Given the description of an element on the screen output the (x, y) to click on. 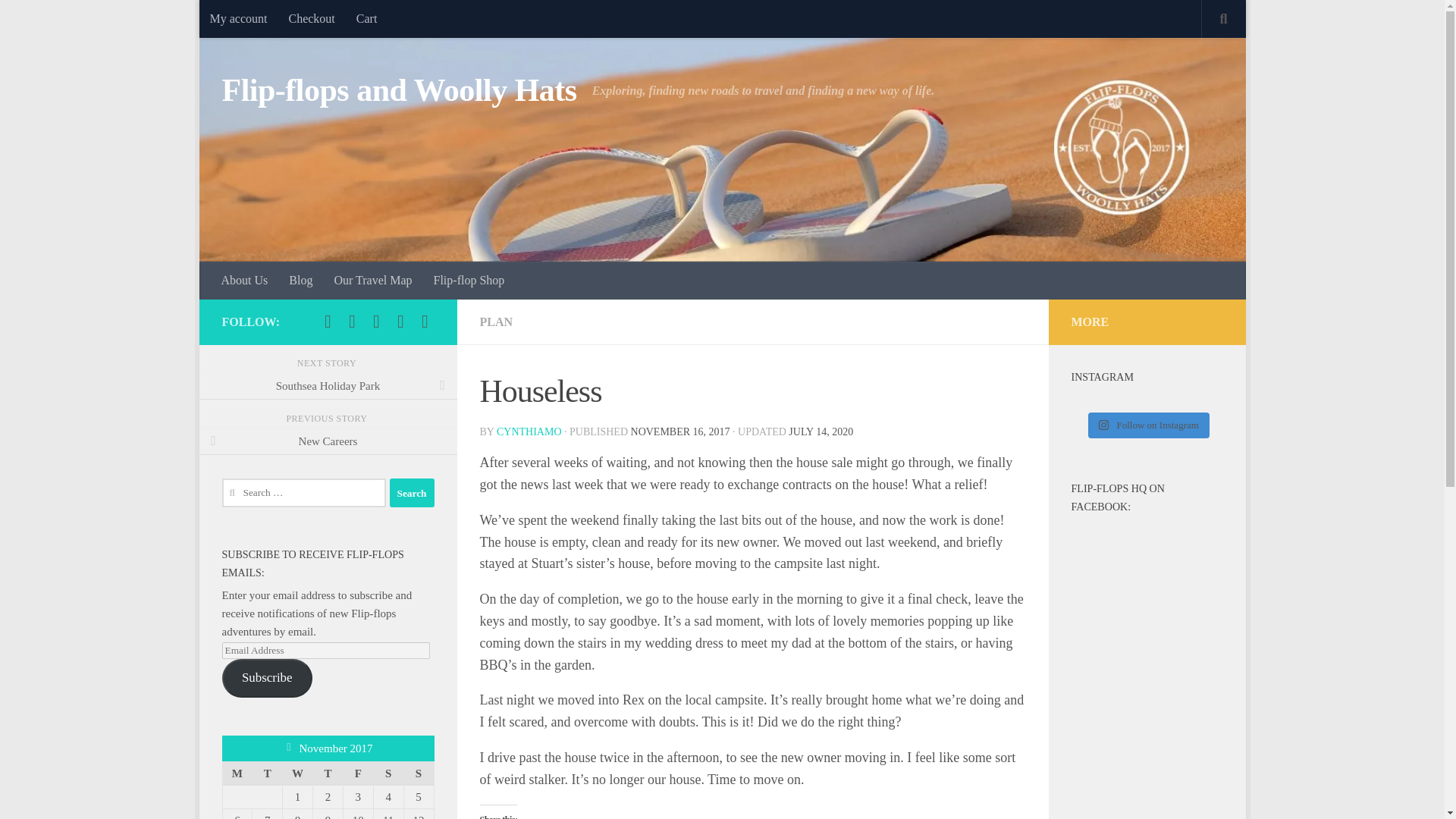
Checkout (311, 18)
Search (411, 492)
CYNTHIAMO (529, 431)
My account (238, 18)
Posts by CynthiaMO (529, 431)
Skip to content (258, 20)
Flip-flop Shop (469, 280)
Flip-flops and Woolly Hats (398, 90)
PLAN (495, 321)
Our Travel Map (372, 280)
Follow us on Instagram (351, 321)
Cart (367, 18)
Search (411, 492)
Follow us on Pinterest-p (375, 321)
Blog (300, 280)
